Given the description of an element on the screen output the (x, y) to click on. 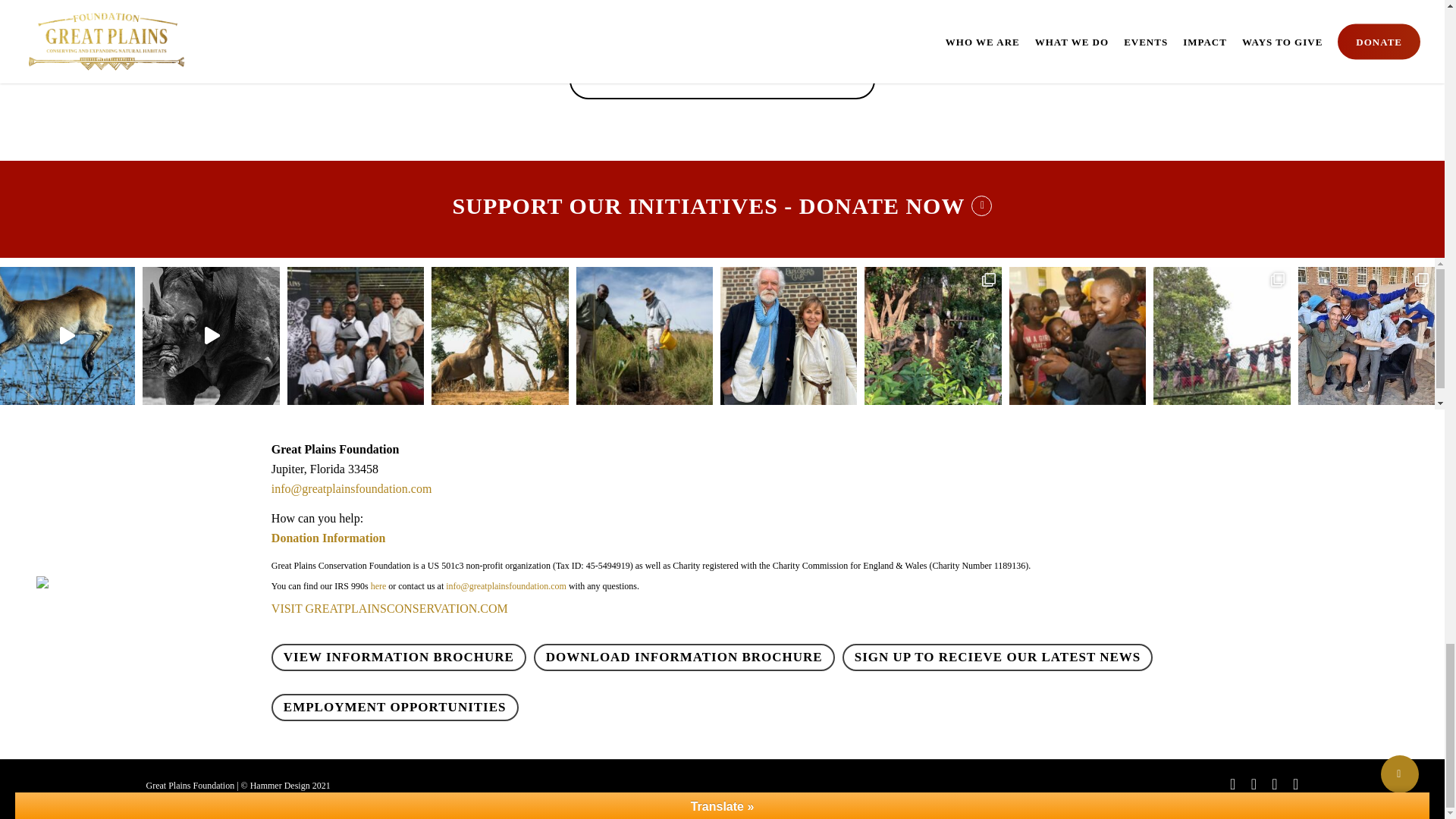
MORE POSTS BY GREAT PLAINS FOUNDATION (722, 80)
DONATE NOW (895, 205)
